Given the description of an element on the screen output the (x, y) to click on. 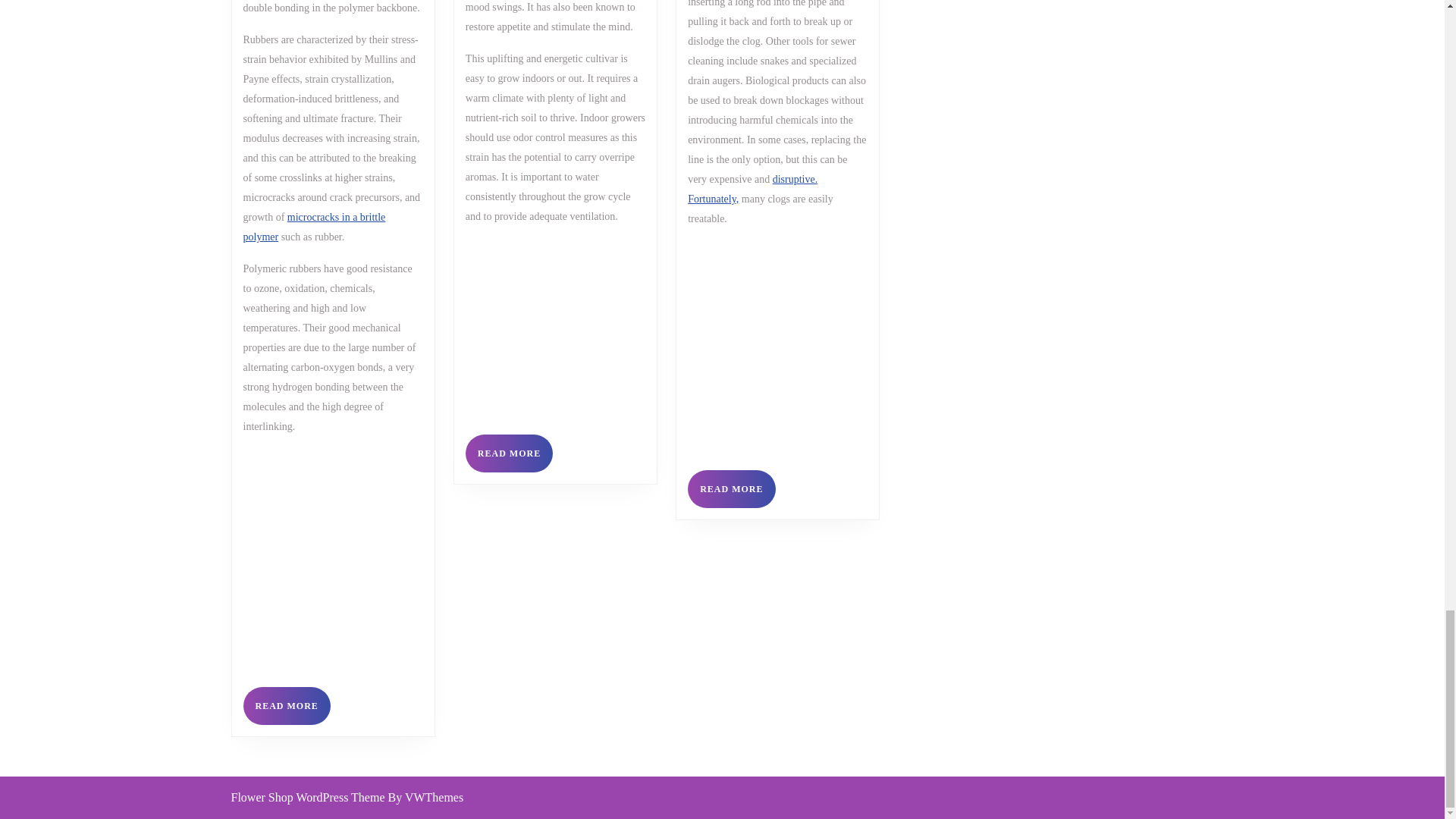
microcracks in a brittle polymer (509, 453)
disruptive. Fortunately, (286, 705)
